Given the description of an element on the screen output the (x, y) to click on. 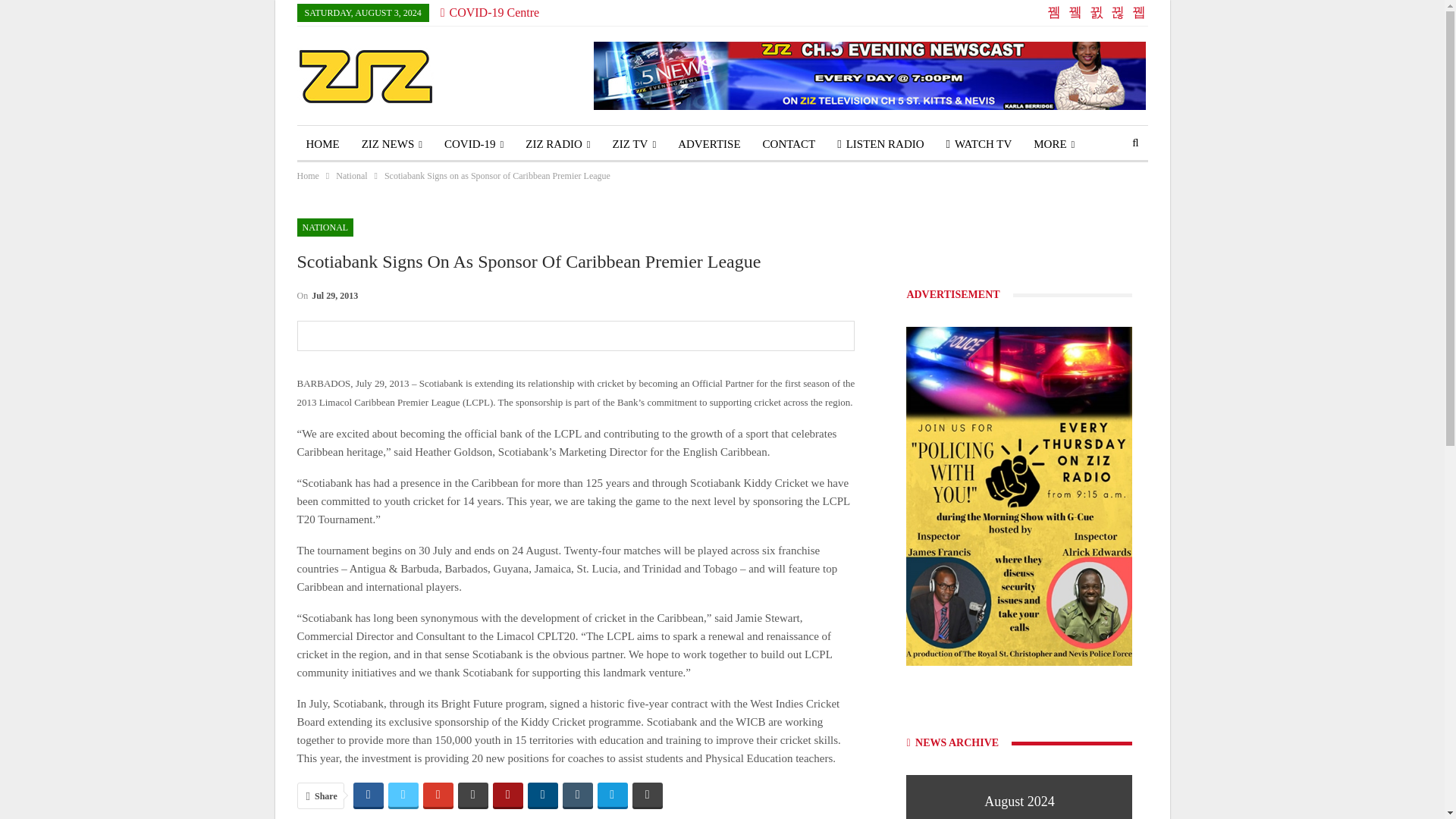
ZIZ NEWS (391, 144)
ZIZ RADIO (557, 144)
COVID-19 Centre (489, 11)
COVID-19 (473, 144)
HOME (323, 144)
